Given the description of an element on the screen output the (x, y) to click on. 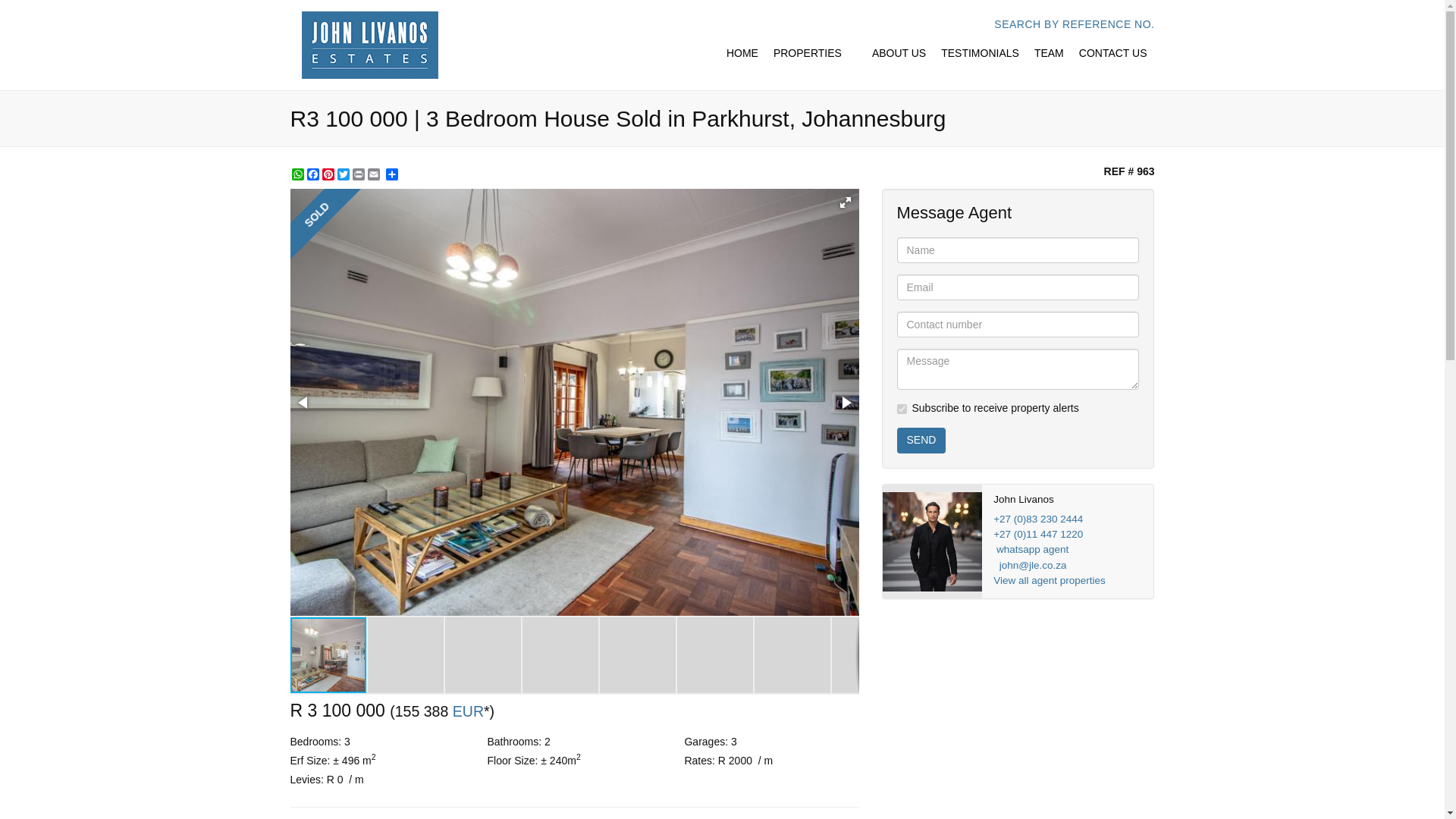
John Livanos Estates, Estate Agency Logo (369, 44)
WhatsApp (296, 174)
Facebook (312, 174)
Pinterest (327, 174)
whatsapp agent (1031, 549)
Twitter (342, 174)
Share (391, 174)
HOME (742, 53)
CONTACT US (1112, 53)
Print (357, 174)
TESTIMONIALS (979, 53)
View all agent properties (1048, 580)
SEARCH BY REFERENCE NO. (1074, 24)
SEND (920, 440)
on (900, 409)
